Given the description of an element on the screen output the (x, y) to click on. 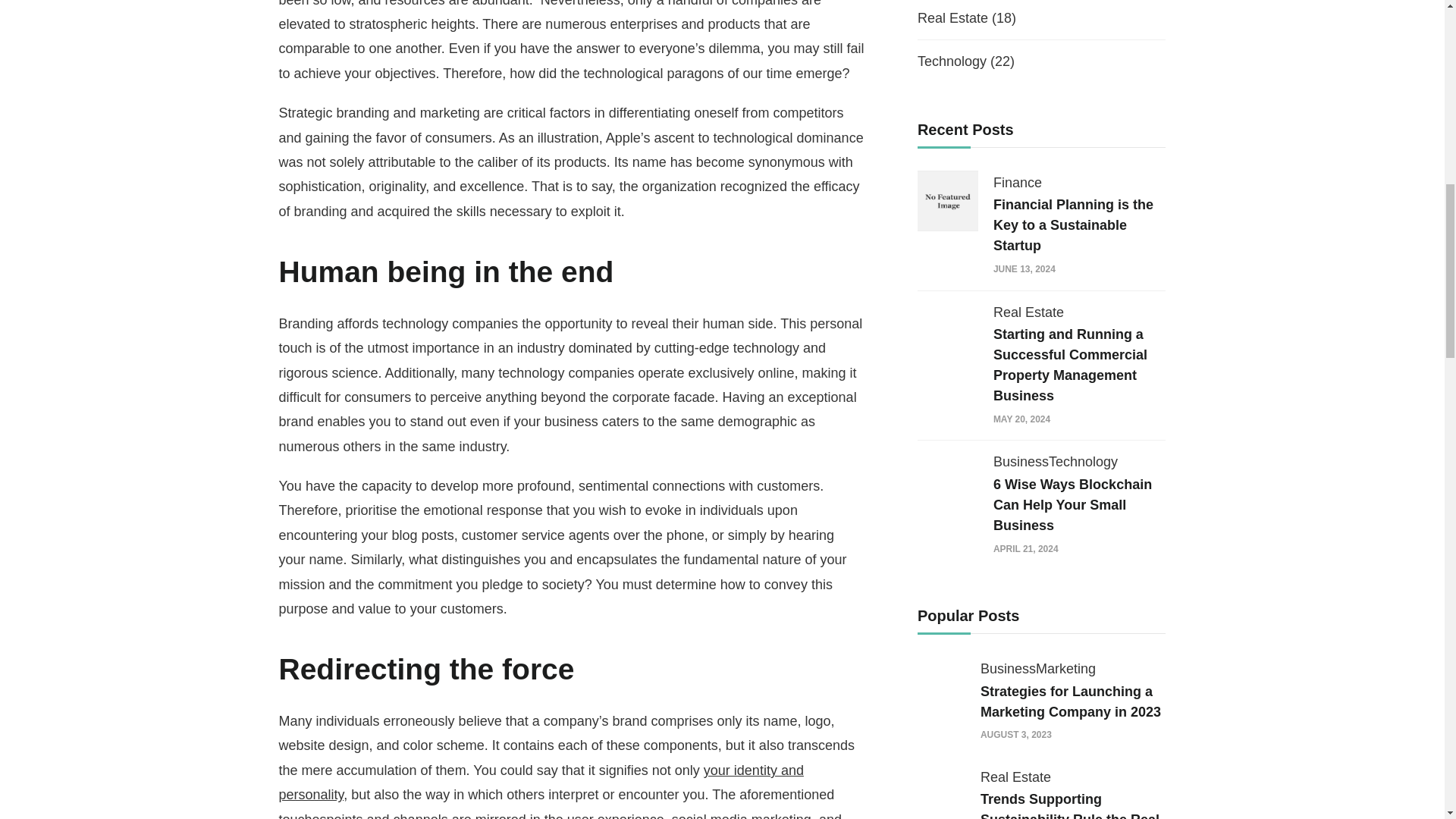
Technology (952, 61)
your identity and personality (541, 782)
Real Estate (952, 17)
